Given the description of an element on the screen output the (x, y) to click on. 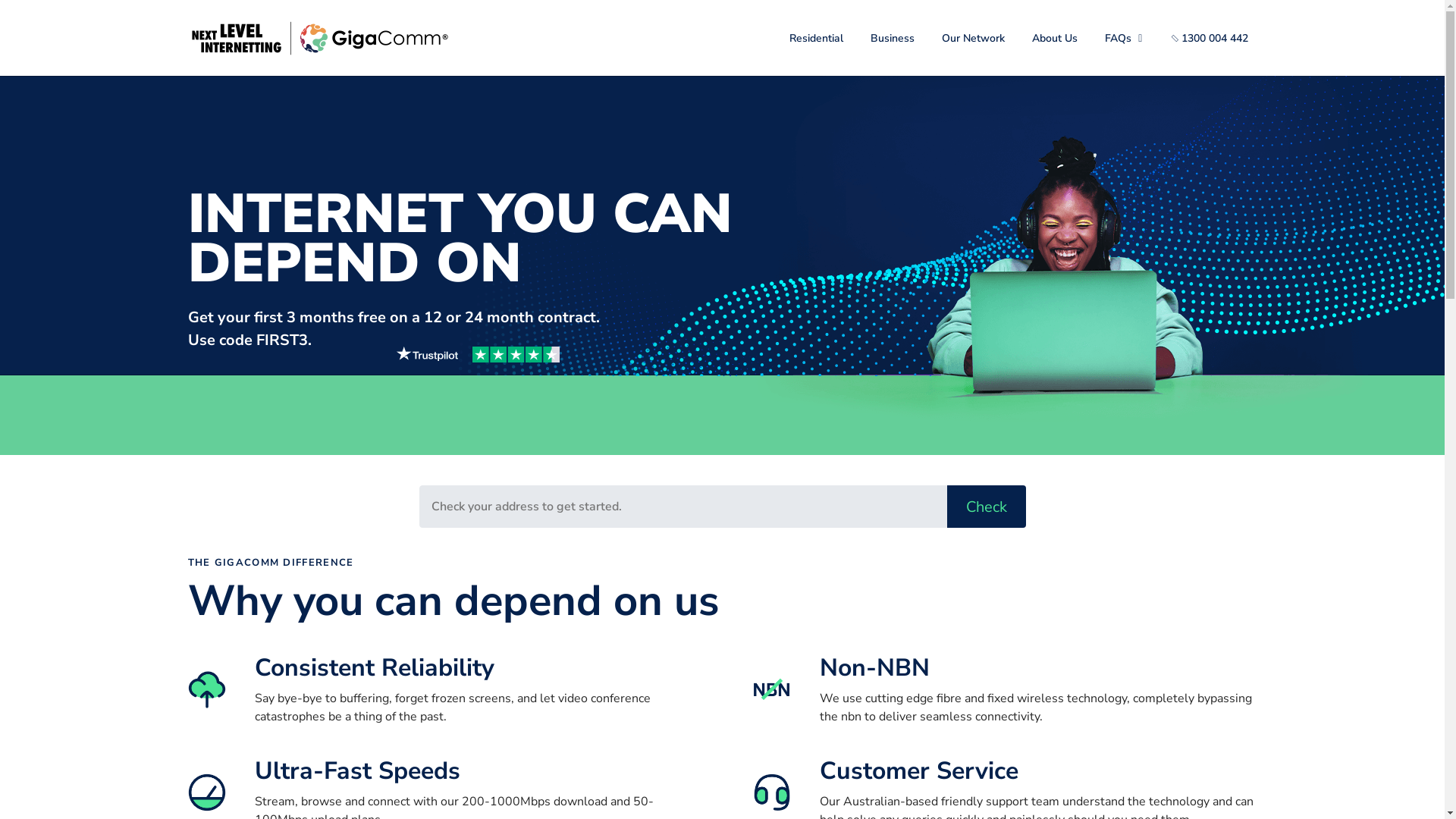
1300 004 442 Element type: text (1210, 37)
FAQs Element type: text (1124, 37)
Our Network Element type: text (972, 37)
Residential Element type: text (816, 37)
About Us Element type: text (1054, 37)
Address Search Element type: hover (682, 506)
Check Element type: text (985, 506)
Business Element type: text (892, 37)
